Given the description of an element on the screen output the (x, y) to click on. 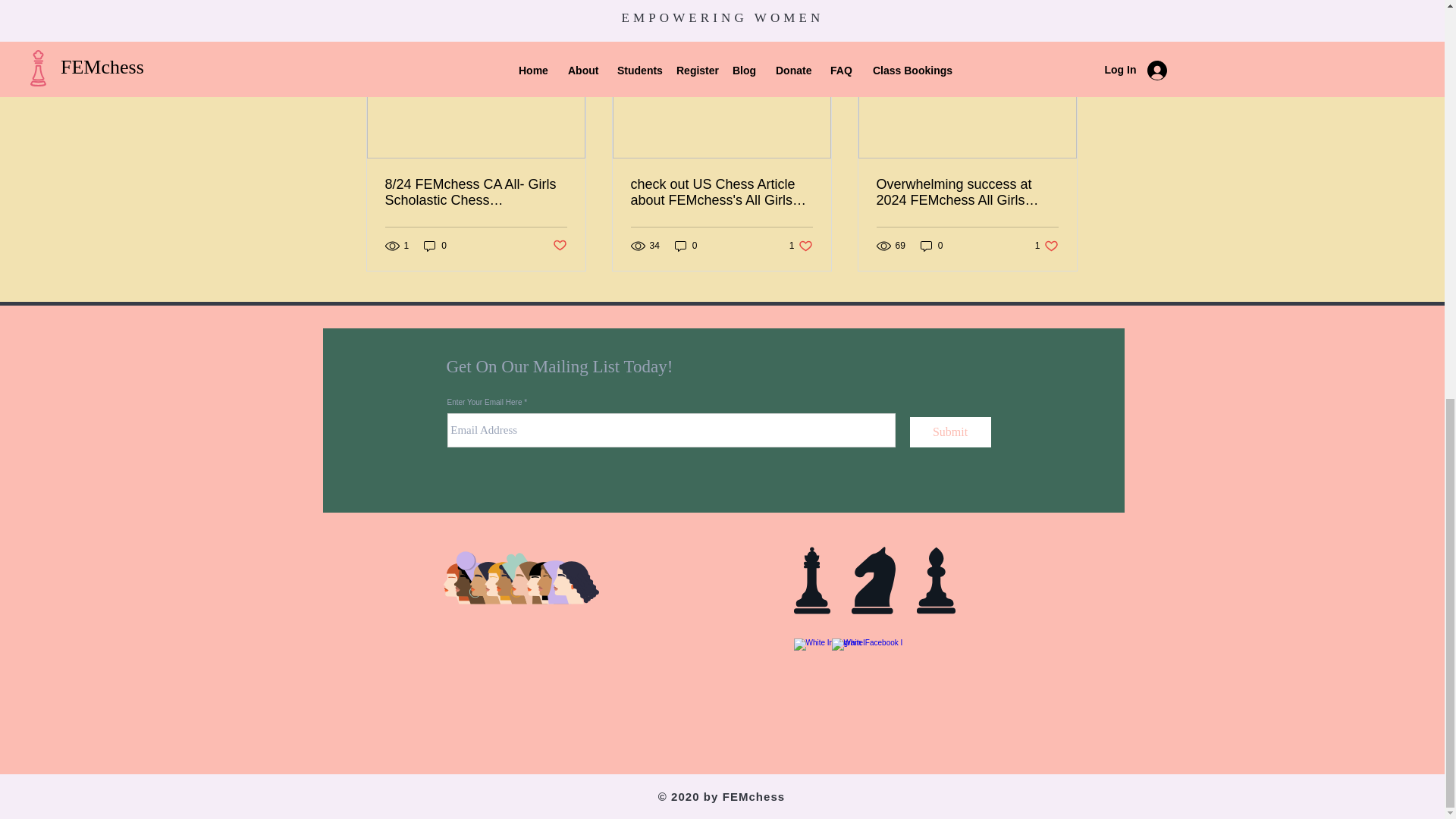
Overwhelming success at 2024 FEMchess All Girls Championship (967, 192)
0 (800, 246)
See All (685, 246)
Post not marked as liked (1061, 9)
0 (558, 245)
